Given the description of an element on the screen output the (x, y) to click on. 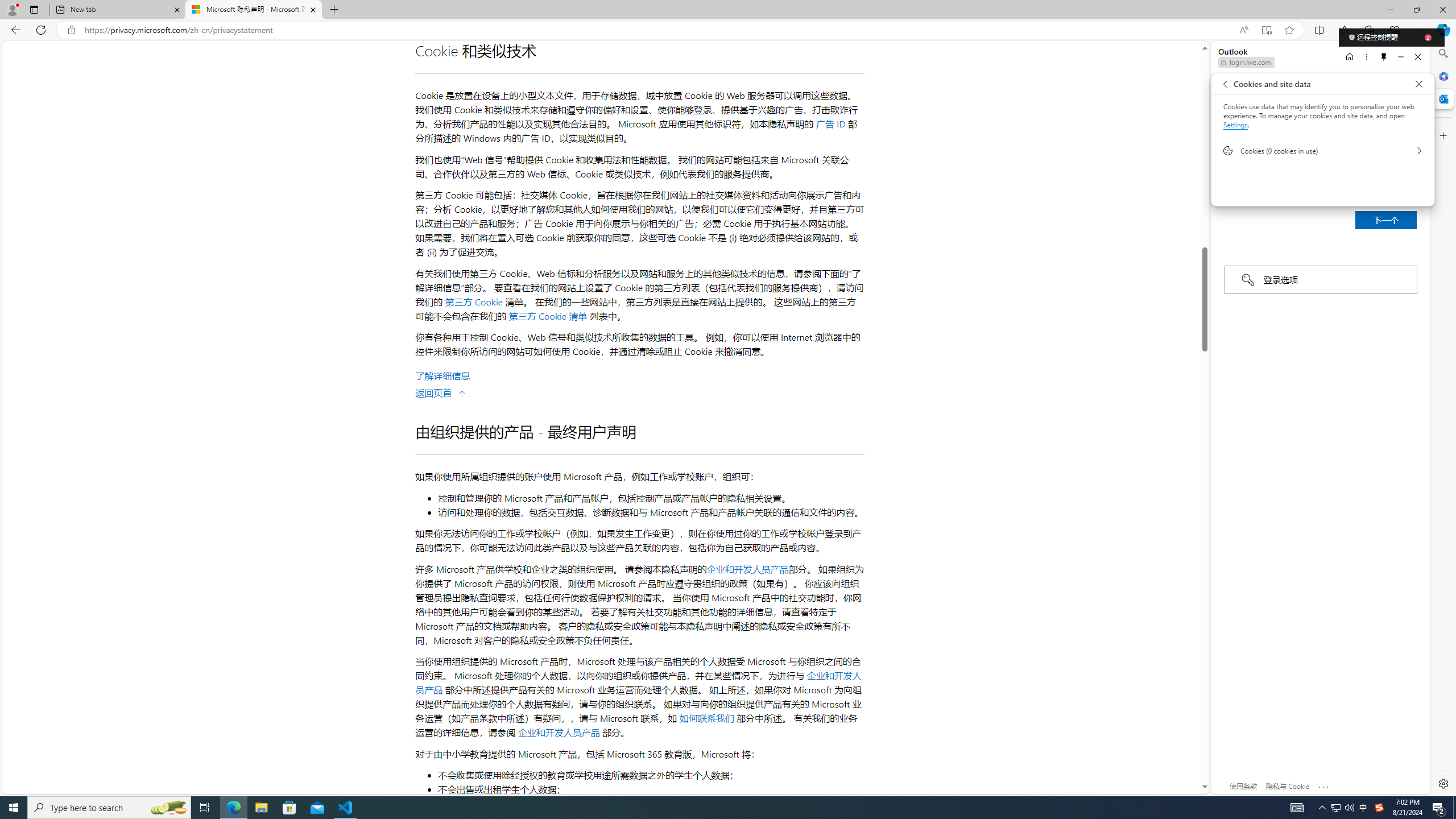
Show desktop (1335, 807)
Microsoft Store (1454, 807)
Type here to search (289, 807)
Running applications (108, 807)
File Explorer (707, 807)
